Given the description of an element on the screen output the (x, y) to click on. 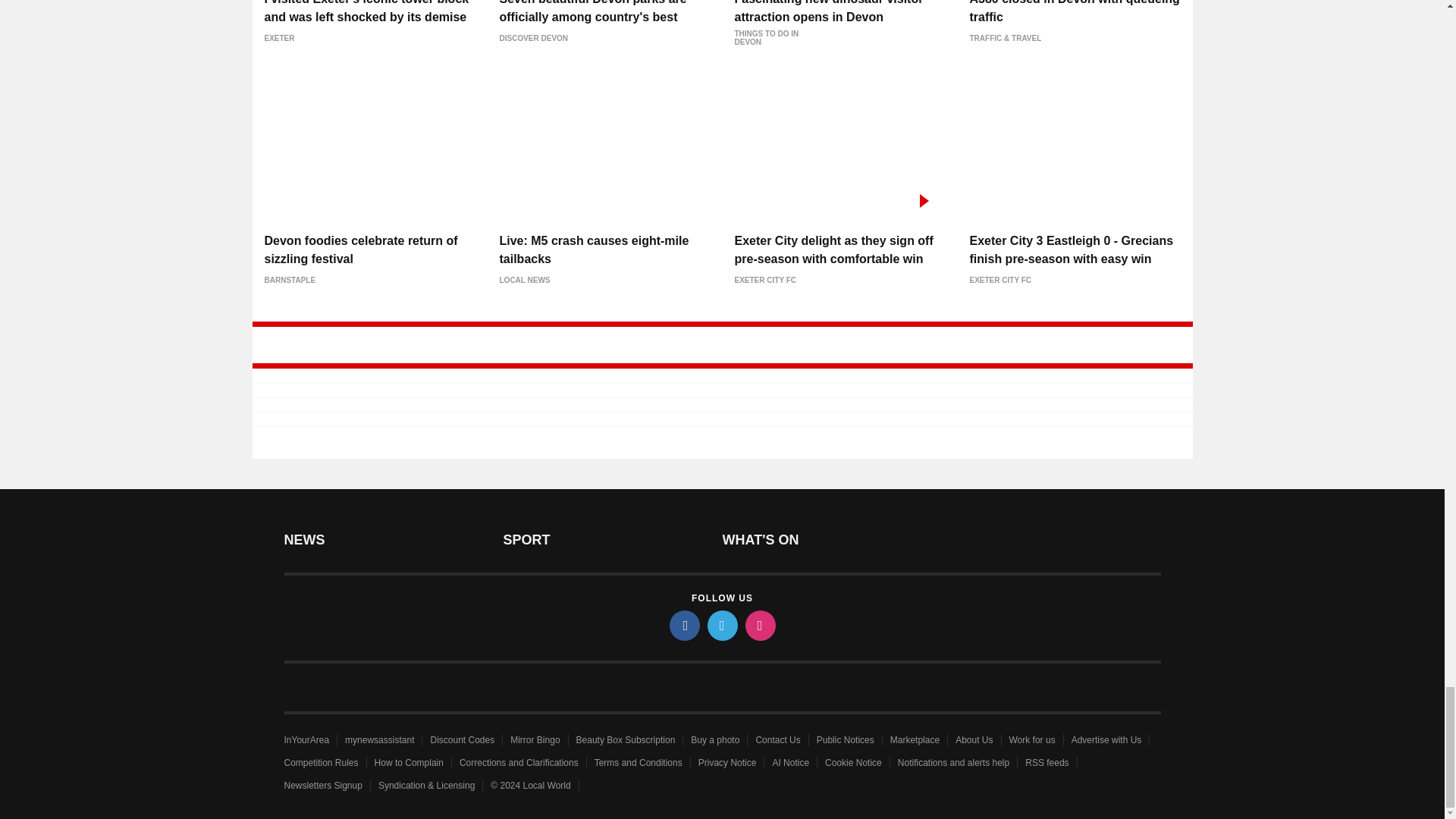
instagram (759, 625)
facebook (683, 625)
twitter (721, 625)
